Given the description of an element on the screen output the (x, y) to click on. 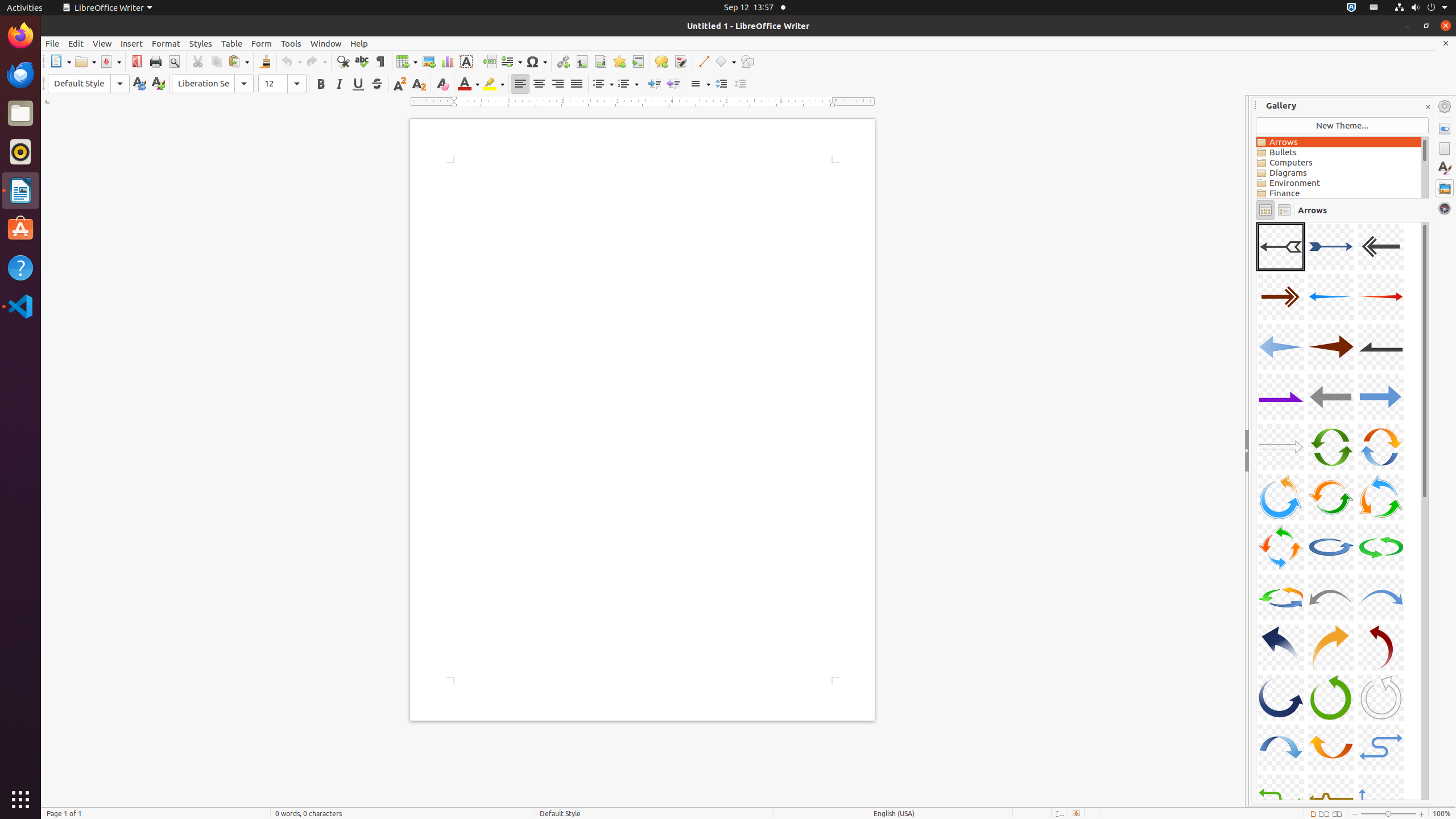
Save Element type: push-button (109, 61)
Draw Functions Element type: toggle-button (746, 61)
Open Element type: push-button (84, 61)
A23-CurvedArrow-Gray-Left Element type: list-item (1330, 596)
Text Box Element type: push-button (465, 61)
